Given the description of an element on the screen output the (x, y) to click on. 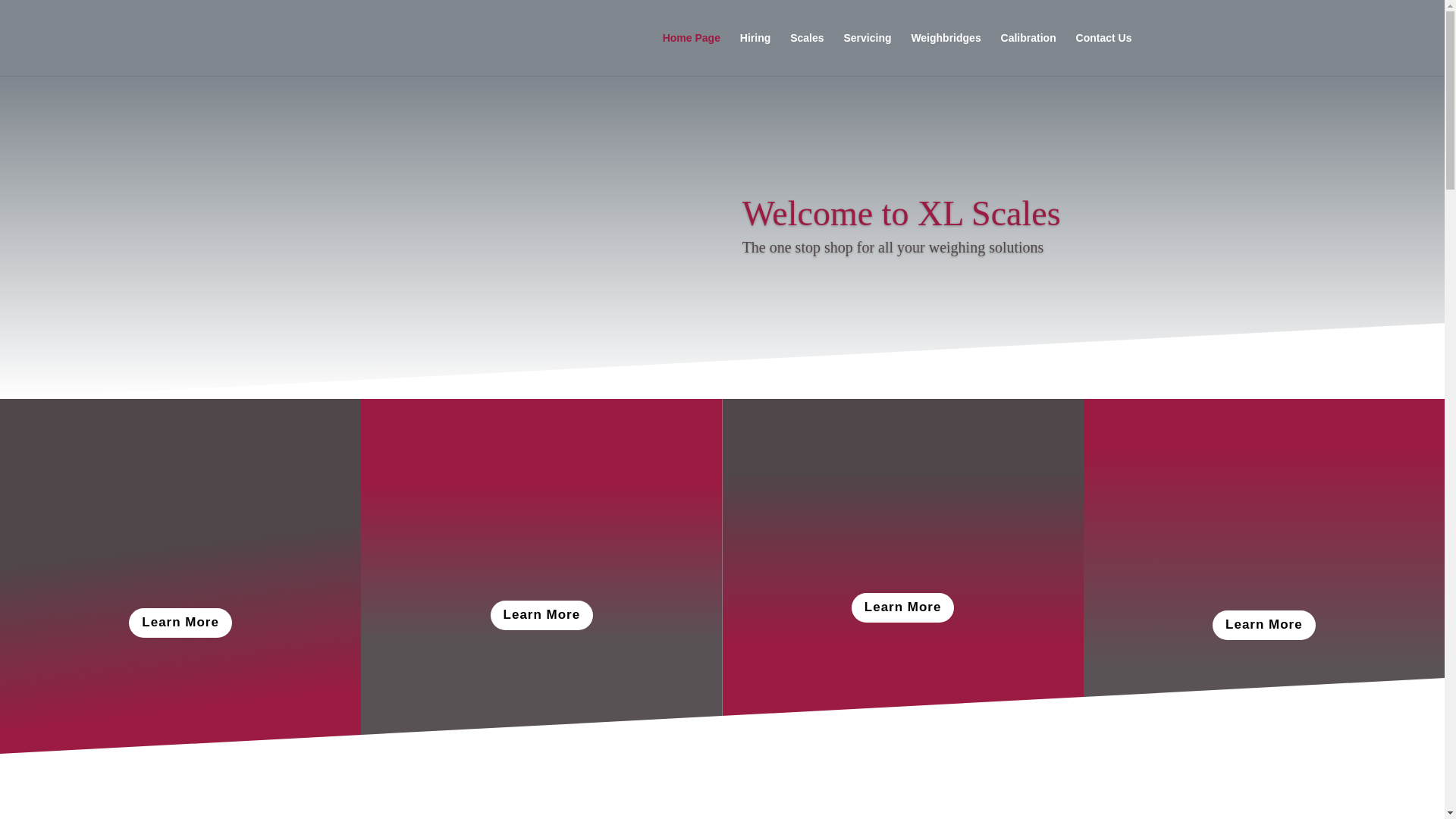
Learn More (903, 607)
Weighbridges (945, 54)
Calibration (1029, 54)
Learn More (1264, 624)
Contact Us (1103, 54)
Learn More (180, 623)
Servicing (867, 54)
Home Page (691, 54)
Learn More (542, 614)
